Given the description of an element on the screen output the (x, y) to click on. 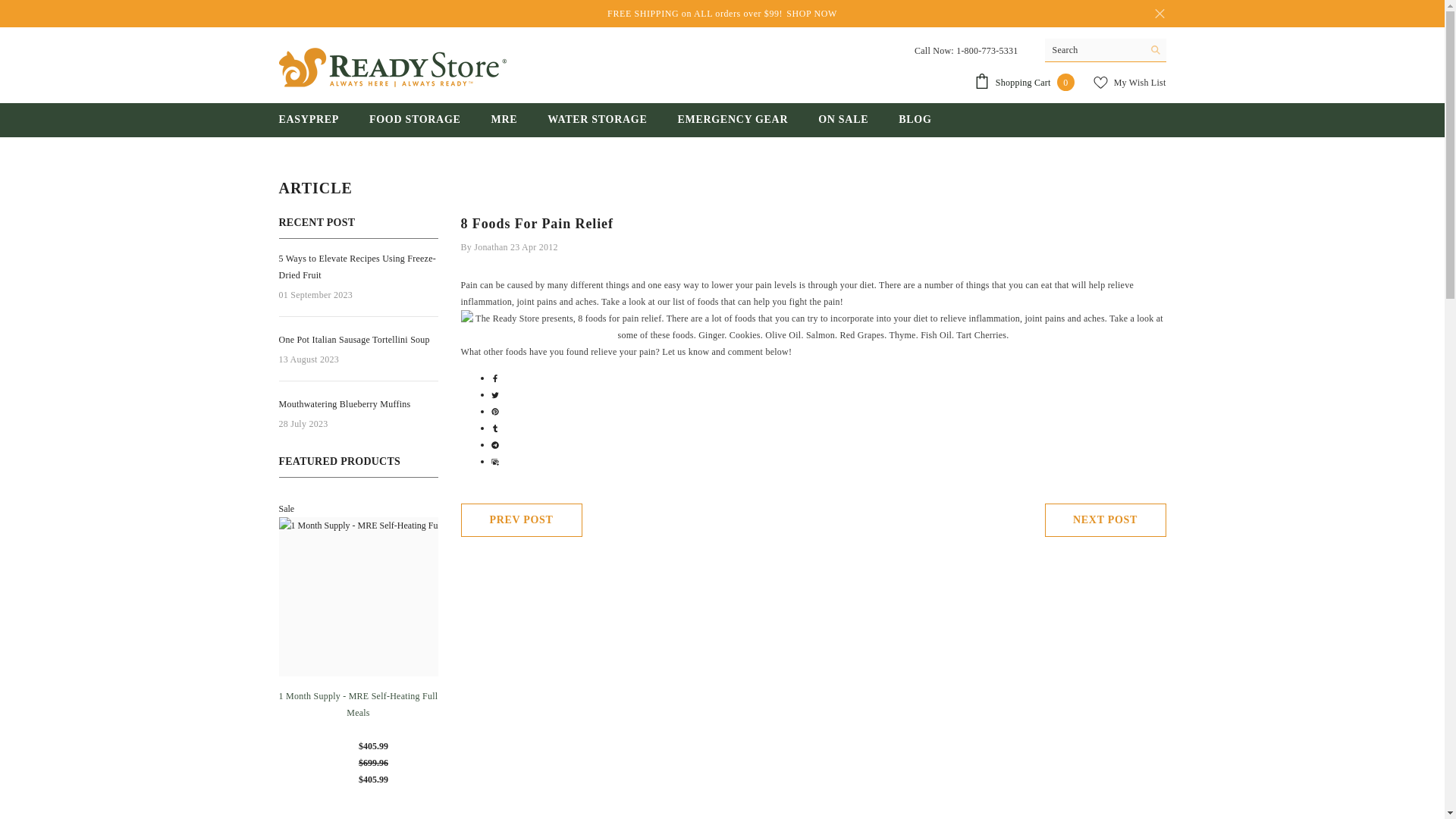
1-800-773-5331 (986, 50)
Close (1159, 13)
SHOP NOW (811, 13)
